Given the description of an element on the screen output the (x, y) to click on. 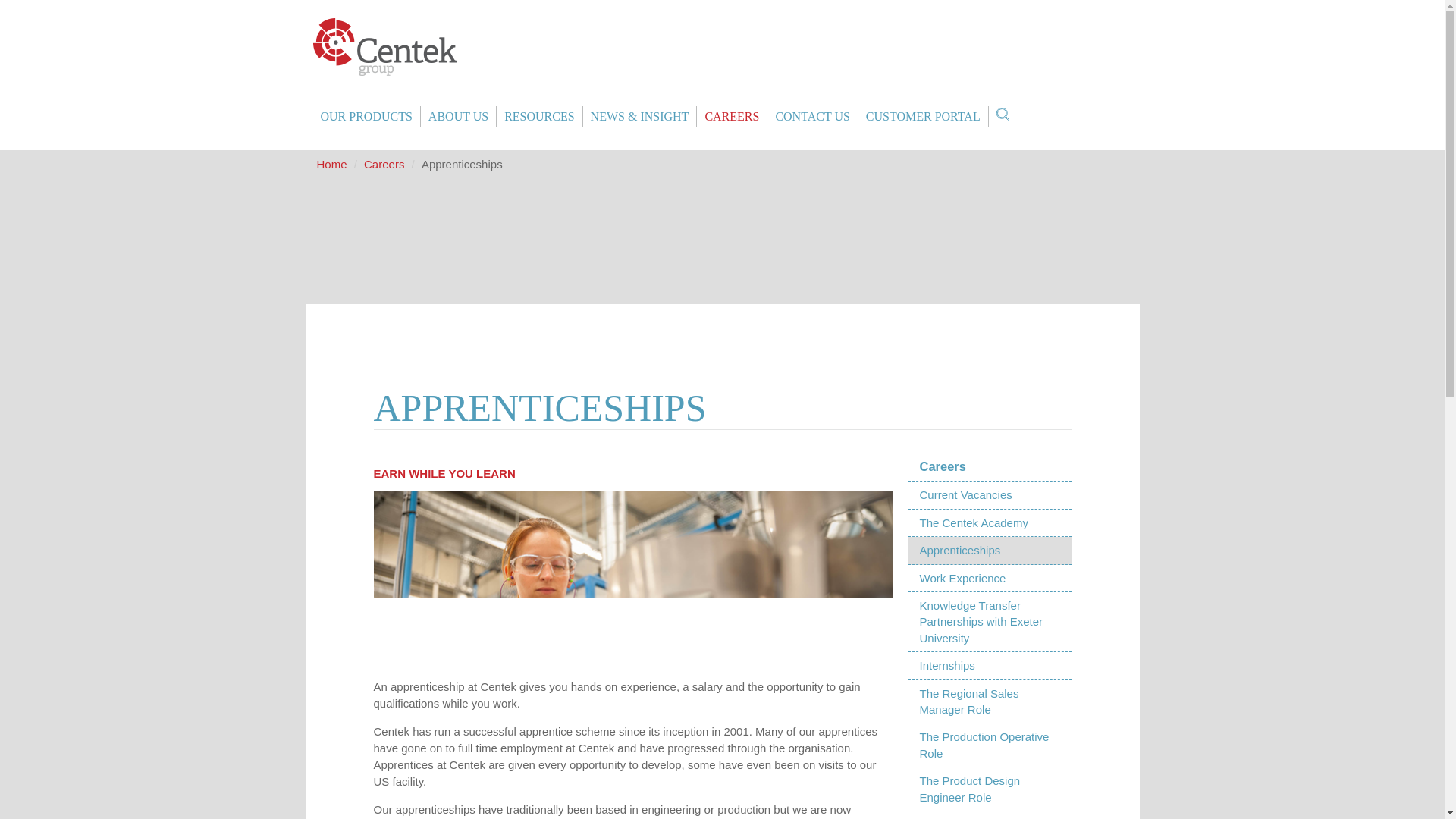
OUR PRODUCTS (366, 116)
RESOURCES (538, 116)
Centek Group (385, 47)
ABOUT US (458, 116)
